Given the description of an element on the screen output the (x, y) to click on. 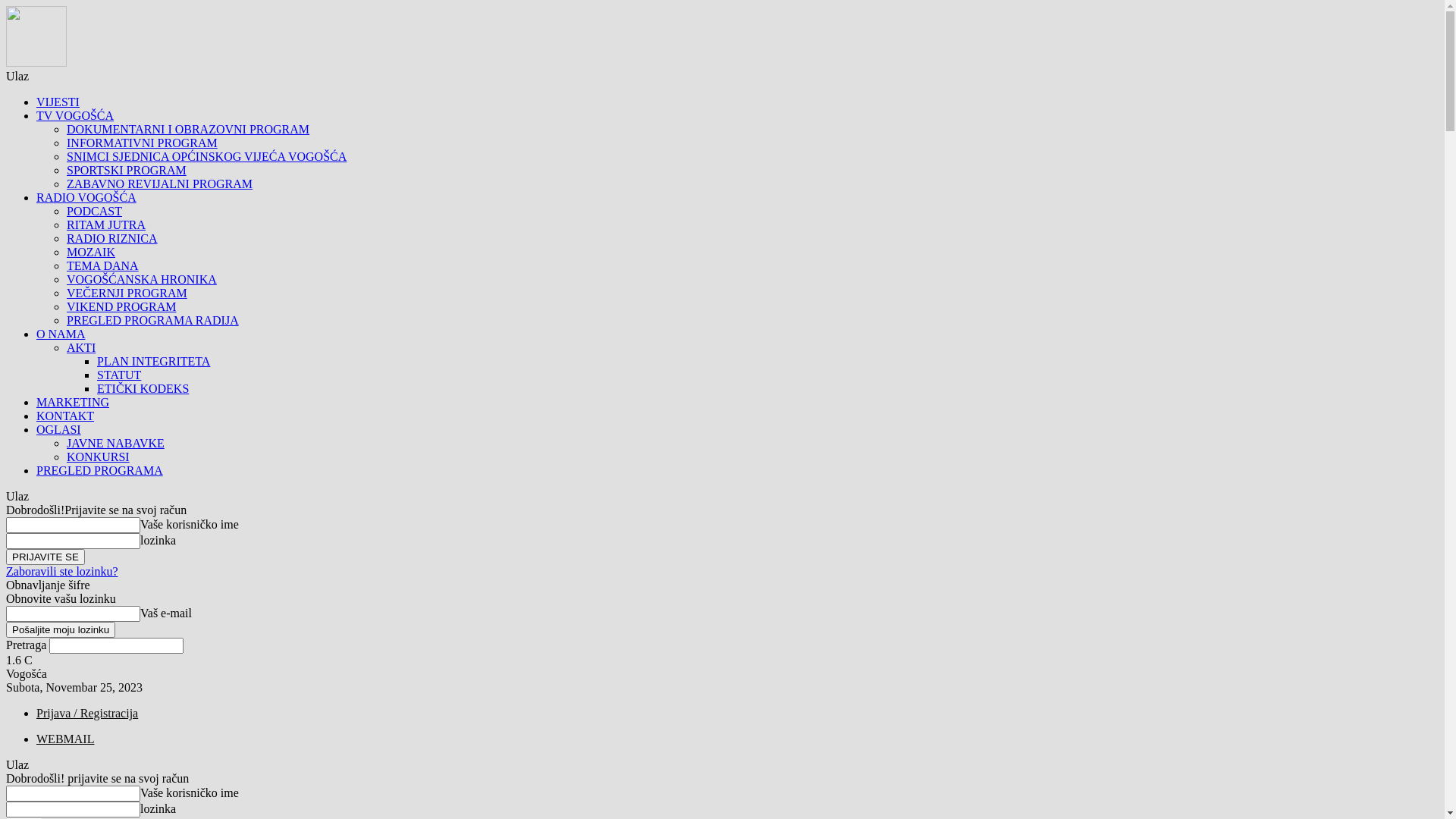
STATUT Element type: text (119, 374)
Prijava / Registracija Element type: text (87, 712)
SPORTSKI PROGRAM Element type: text (126, 169)
RADIO RIZNICA Element type: text (111, 238)
MARKETING Element type: text (72, 401)
KONTAKT Element type: text (65, 415)
MOZAIK Element type: text (90, 251)
VIJESTI Element type: text (57, 101)
JAVNE NABAVKE Element type: text (115, 442)
RITAM JUTRA Element type: text (105, 224)
VIKEND PROGRAM Element type: text (120, 306)
PODCAST Element type: text (94, 210)
AKTI Element type: text (80, 347)
OGLASI Element type: text (58, 429)
TEMA DANA Element type: text (102, 265)
INFORMATIVNI PROGRAM Element type: text (141, 142)
DOKUMENTARNI I OBRAZOVNI PROGRAM Element type: text (187, 128)
PREGLED PROGRAMA Element type: text (99, 470)
PLAN INTEGRITETA Element type: text (153, 360)
ZABAVNO REVIJALNI PROGRAM Element type: text (159, 183)
O NAMA Element type: text (60, 333)
Ulaz Element type: text (17, 75)
PREGLED PROGRAMA RADIJA Element type: text (152, 319)
Zaboravili ste lozinku? Element type: text (62, 570)
WEBMAIL Element type: text (65, 738)
KONKURSI Element type: text (97, 456)
